Given the description of an element on the screen output the (x, y) to click on. 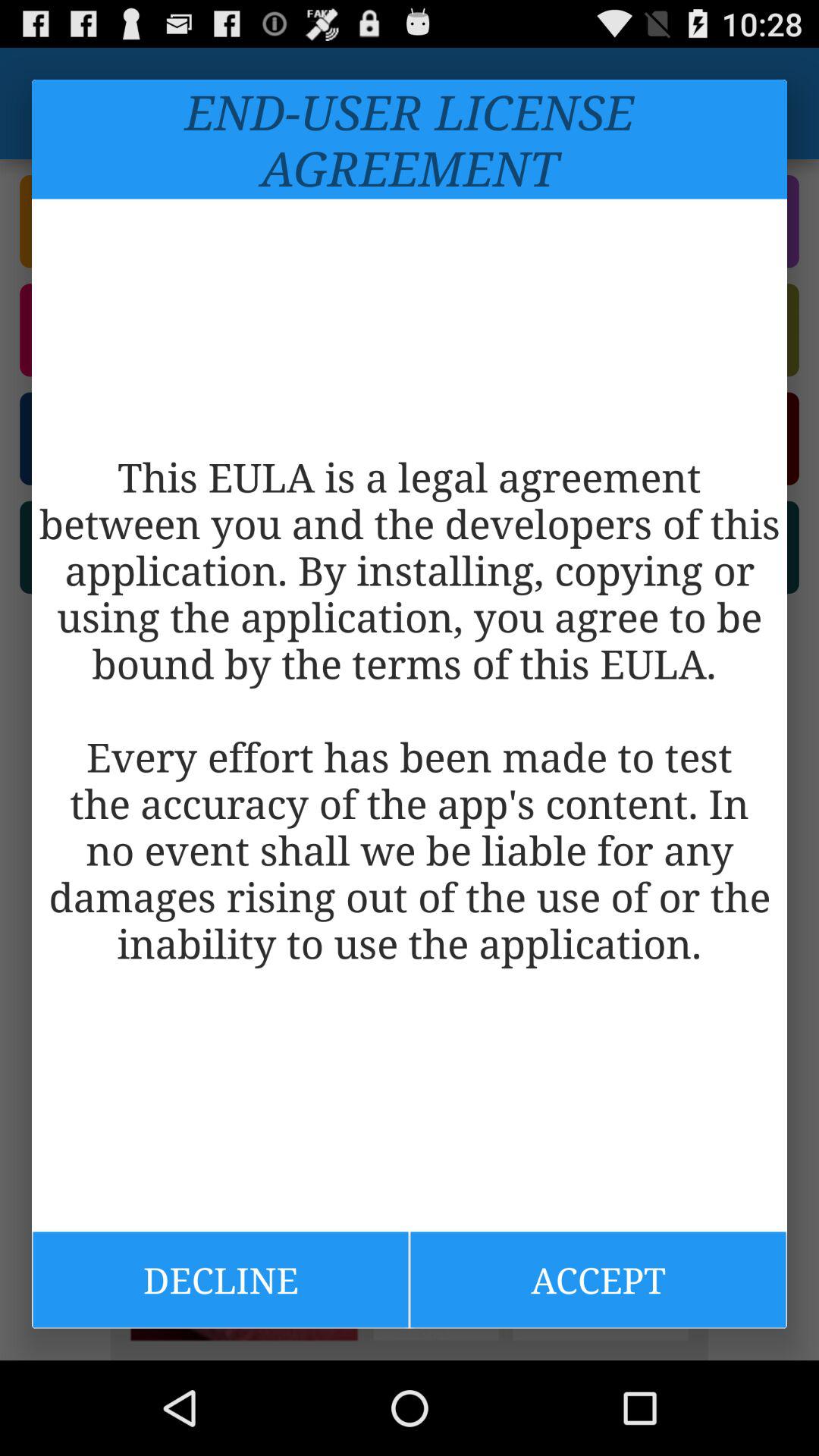
choose icon at the bottom right corner (598, 1279)
